Given the description of an element on the screen output the (x, y) to click on. 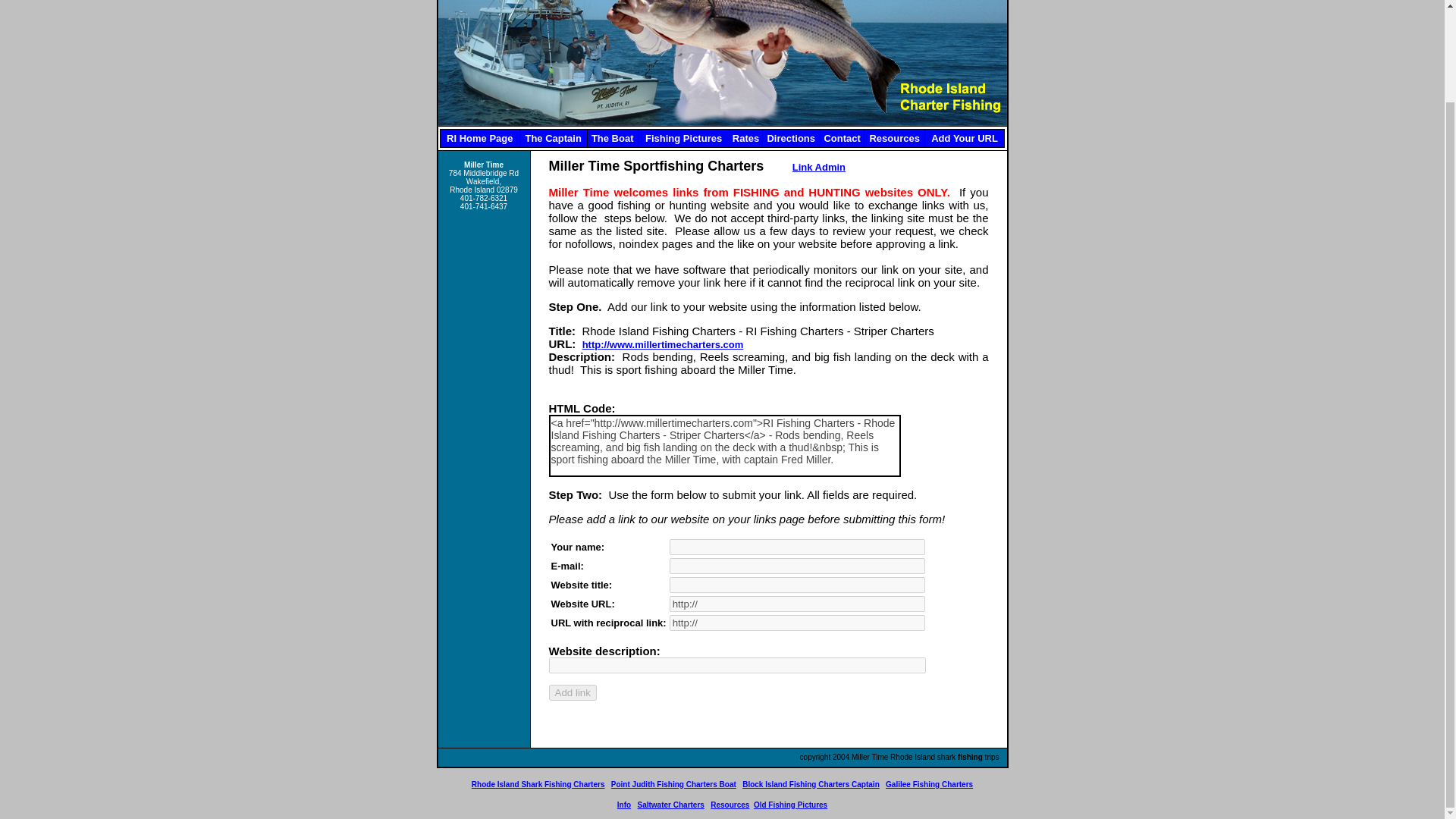
Old Fishing Pictures (790, 803)
Add Your URL (964, 138)
Info (623, 803)
Add link (572, 692)
The Captain (552, 138)
Directions (791, 138)
Resources (729, 803)
fishing (970, 756)
Contact (842, 138)
Add link (572, 692)
Fishing Pictures (683, 138)
Resources (893, 138)
Rates (745, 138)
Point Judith Fishing Charters Boat (673, 783)
Block Island Fishing Charters Captain (810, 783)
